Given the description of an element on the screen output the (x, y) to click on. 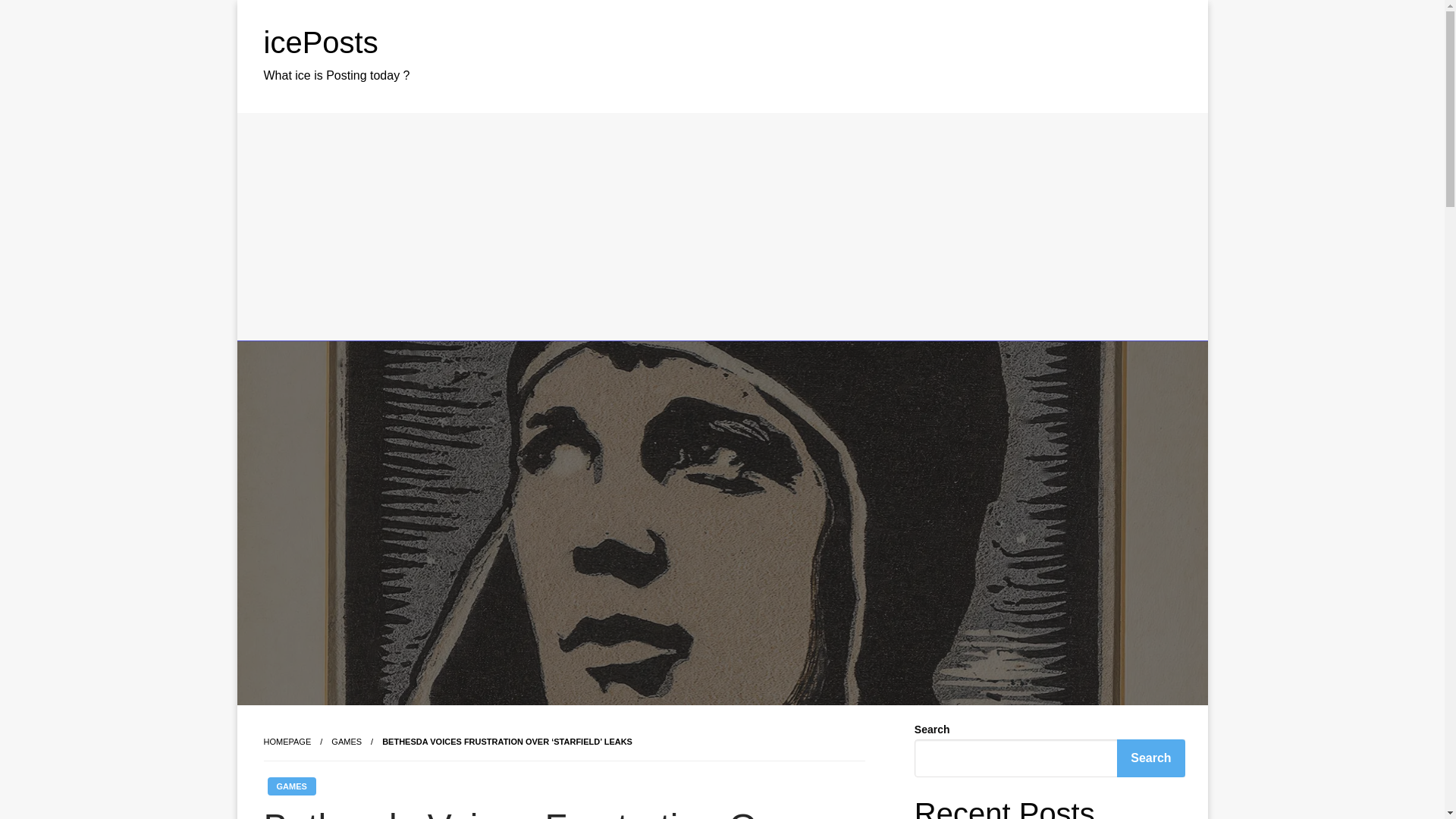
GAMES (346, 741)
GAMES (290, 786)
Search (1150, 758)
Games (346, 741)
HOMEPAGE (287, 741)
icePosts (320, 41)
Homepage (287, 741)
